Given the description of an element on the screen output the (x, y) to click on. 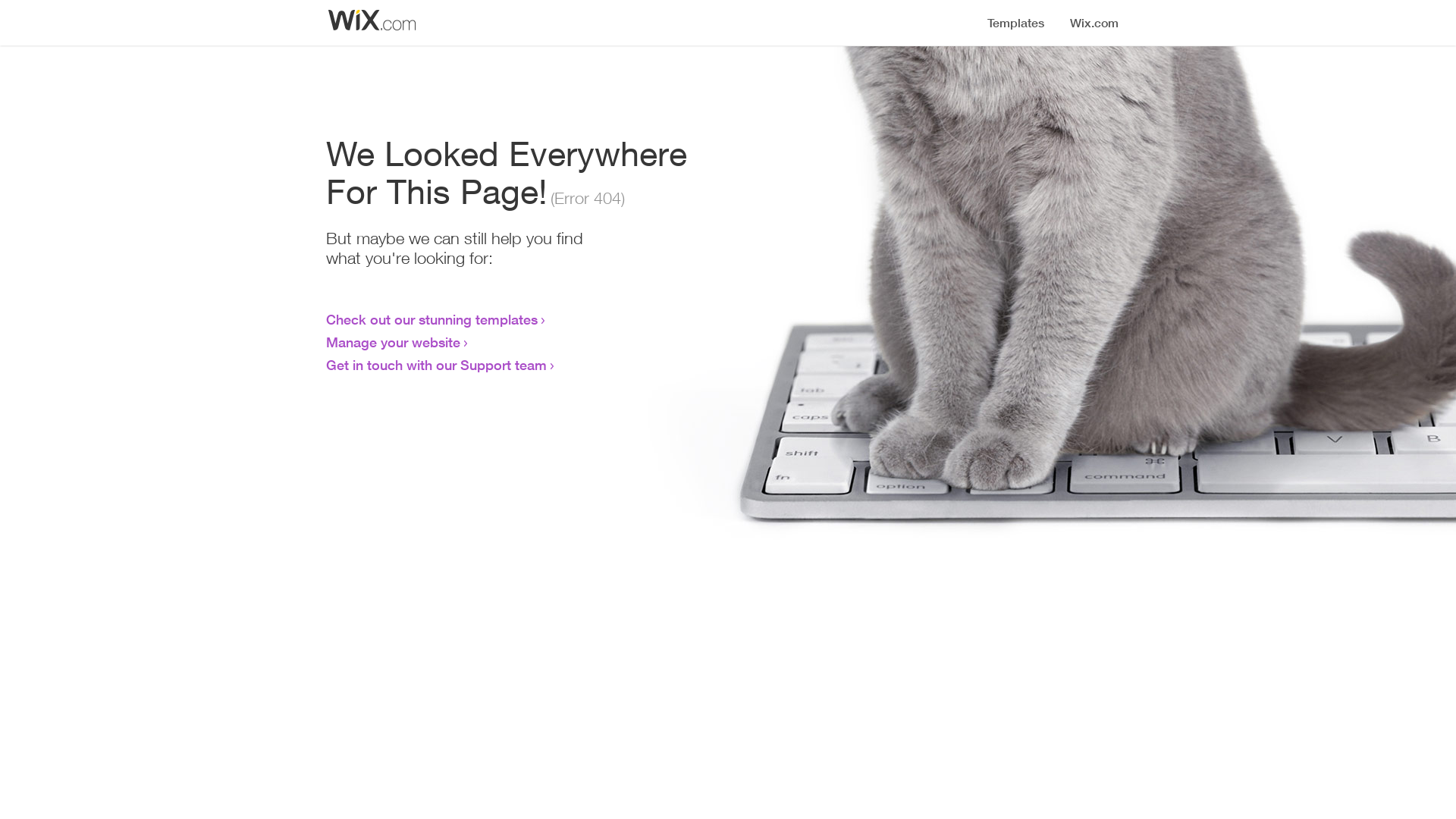
Get in touch with our Support team Element type: text (436, 364)
Manage your website Element type: text (393, 341)
Check out our stunning templates Element type: text (431, 318)
